Given the description of an element on the screen output the (x, y) to click on. 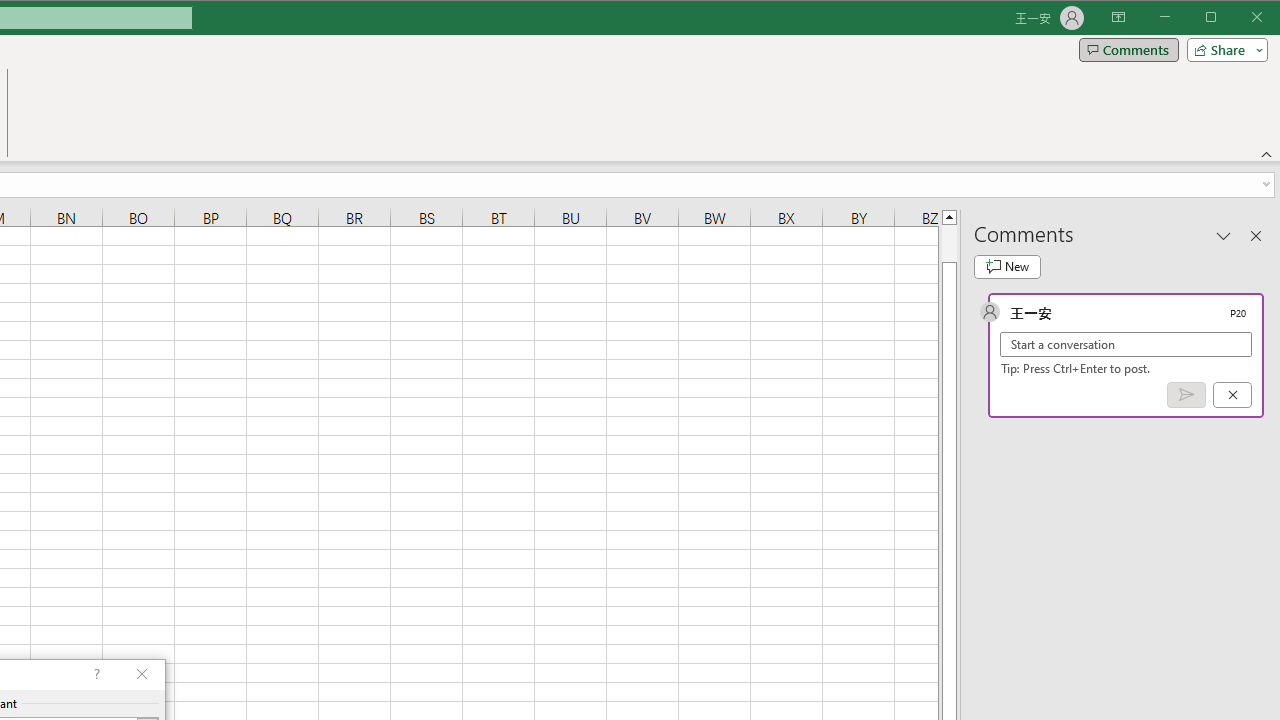
Start a conversation (1126, 344)
Ribbon Display Options (1118, 17)
